Given the description of an element on the screen output the (x, y) to click on. 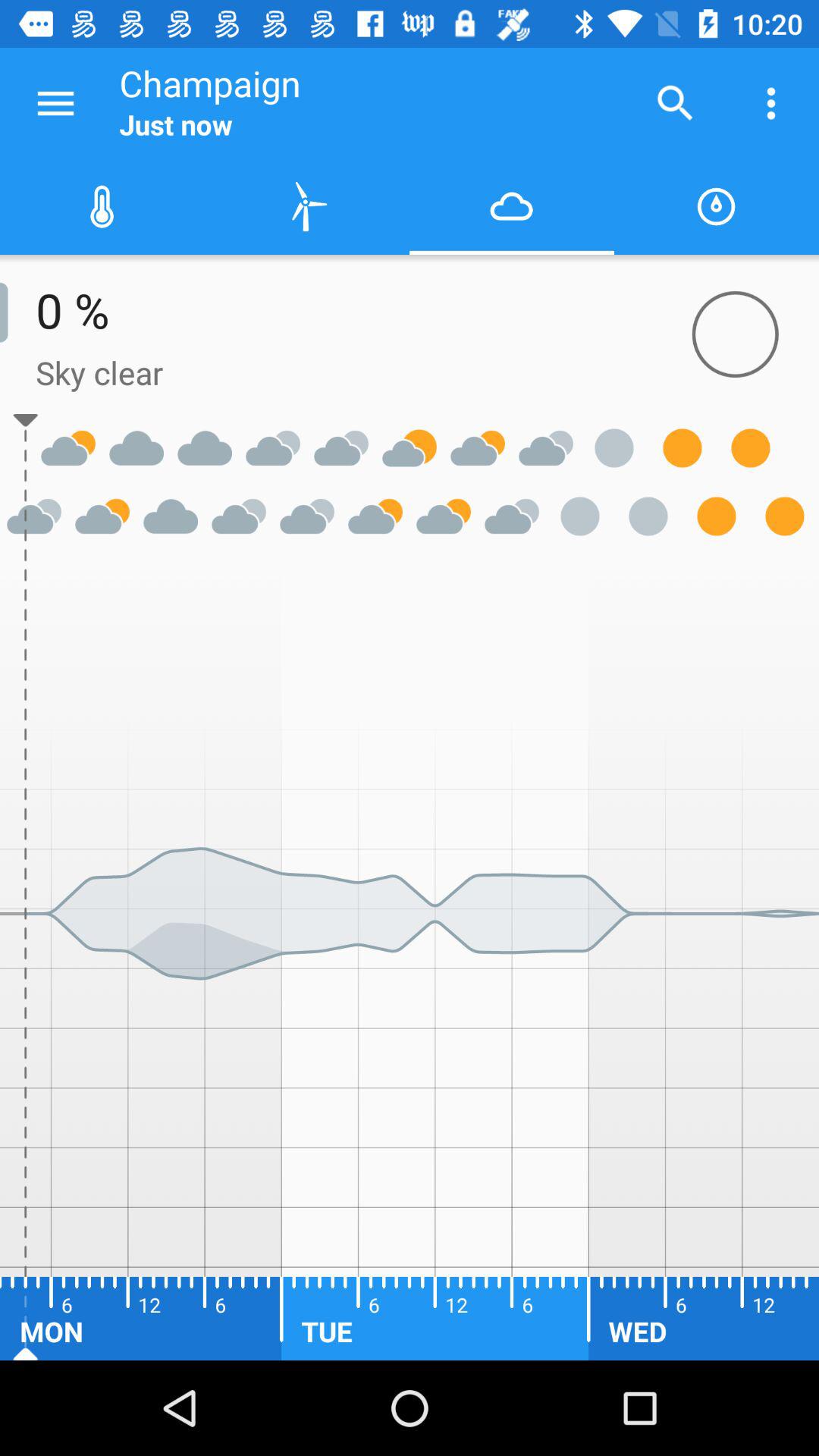
open options (55, 103)
